Given the description of an element on the screen output the (x, y) to click on. 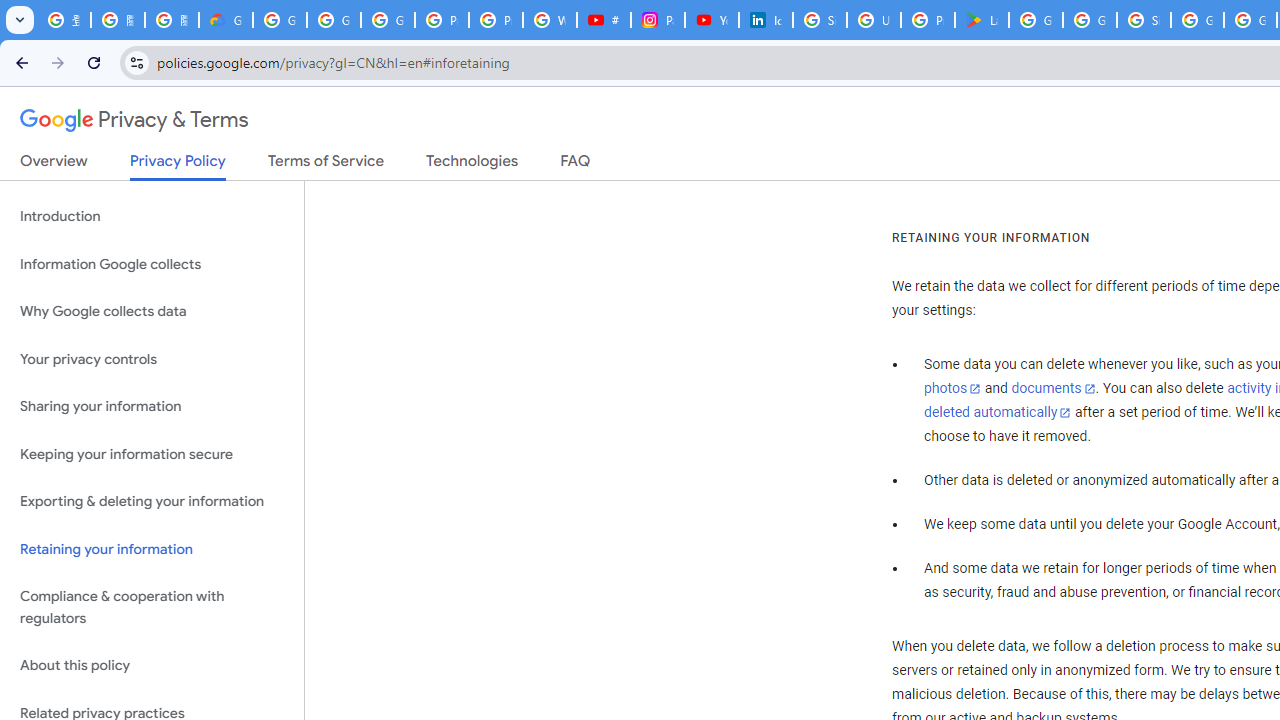
About this policy (152, 666)
documents (1053, 389)
Google Workspace - Specific Terms (1089, 20)
Compliance & cooperation with regulators (152, 607)
Privacy Policy (177, 166)
Keeping your information secure (152, 453)
Sign in - Google Accounts (1144, 20)
